Given the description of an element on the screen output the (x, y) to click on. 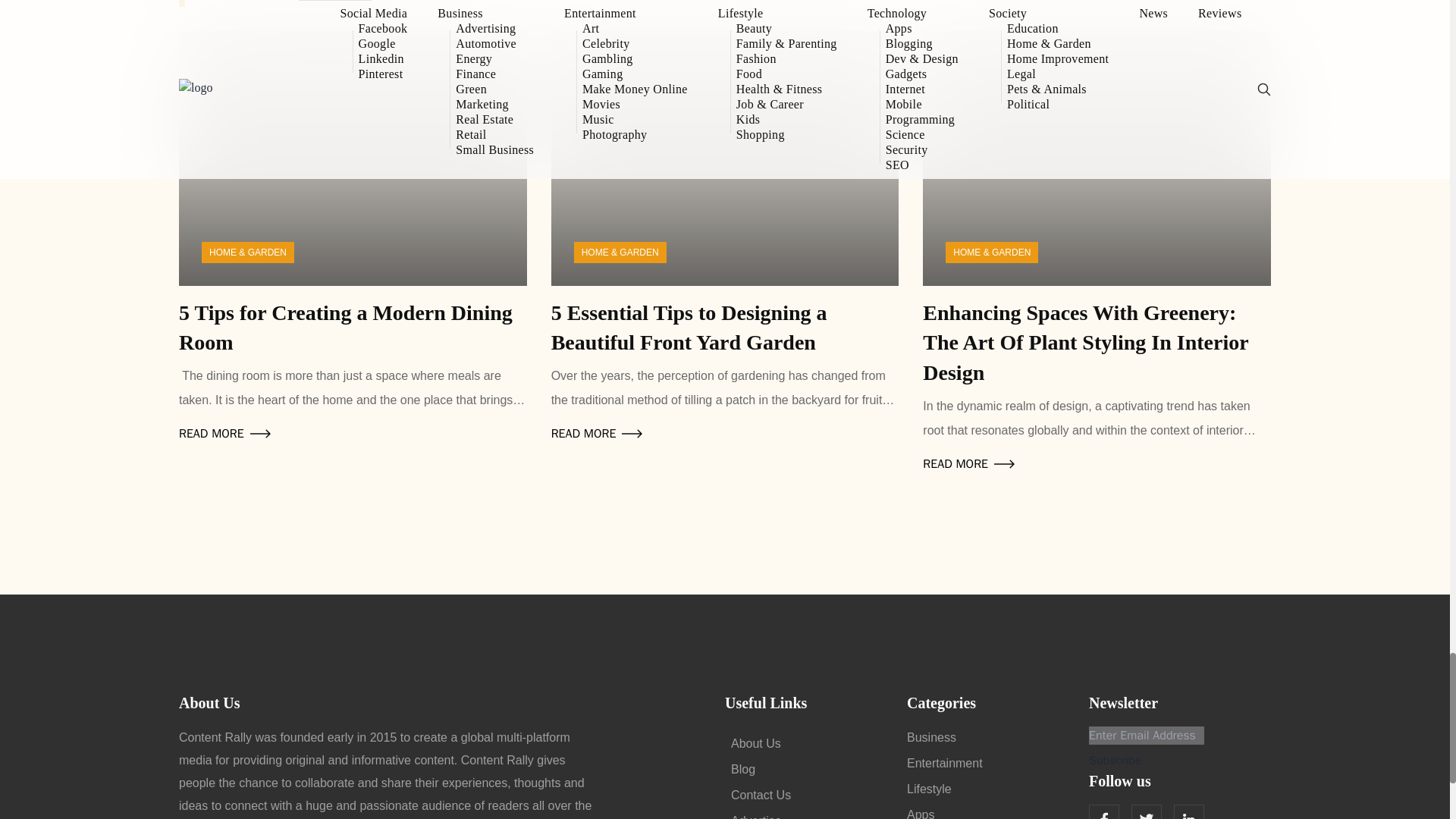
Subscribe (1115, 760)
